Given the description of an element on the screen output the (x, y) to click on. 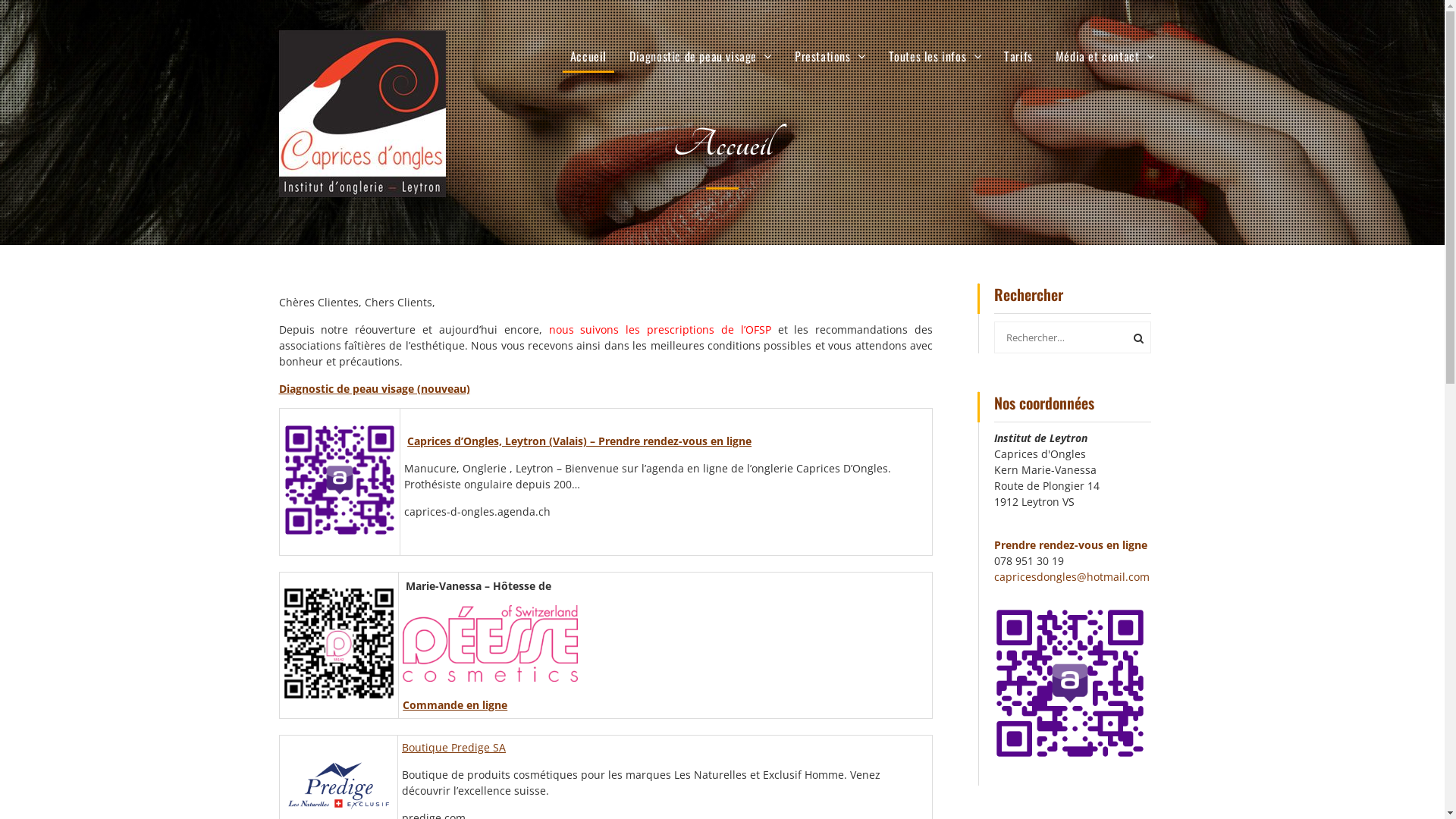
Diagnostic de peau visage Element type: text (700, 55)
Accueil Element type: text (588, 55)
capricesdongles@hotmail.com Element type: text (1071, 575)
Prestations Element type: text (830, 55)
Tarifs Element type: text (1018, 55)
Toutes les infos Element type: text (935, 55)
Commande en ligne Element type: text (454, 704)
Prendre rendez-vous en ligne Element type: text (1070, 543)
Rechercher Element type: text (1135, 337)
Boutique Predige SA Element type: text (453, 747)
Diagnostic de peau visage (nouveau) Element type: text (374, 387)
